Given the description of an element on the screen output the (x, y) to click on. 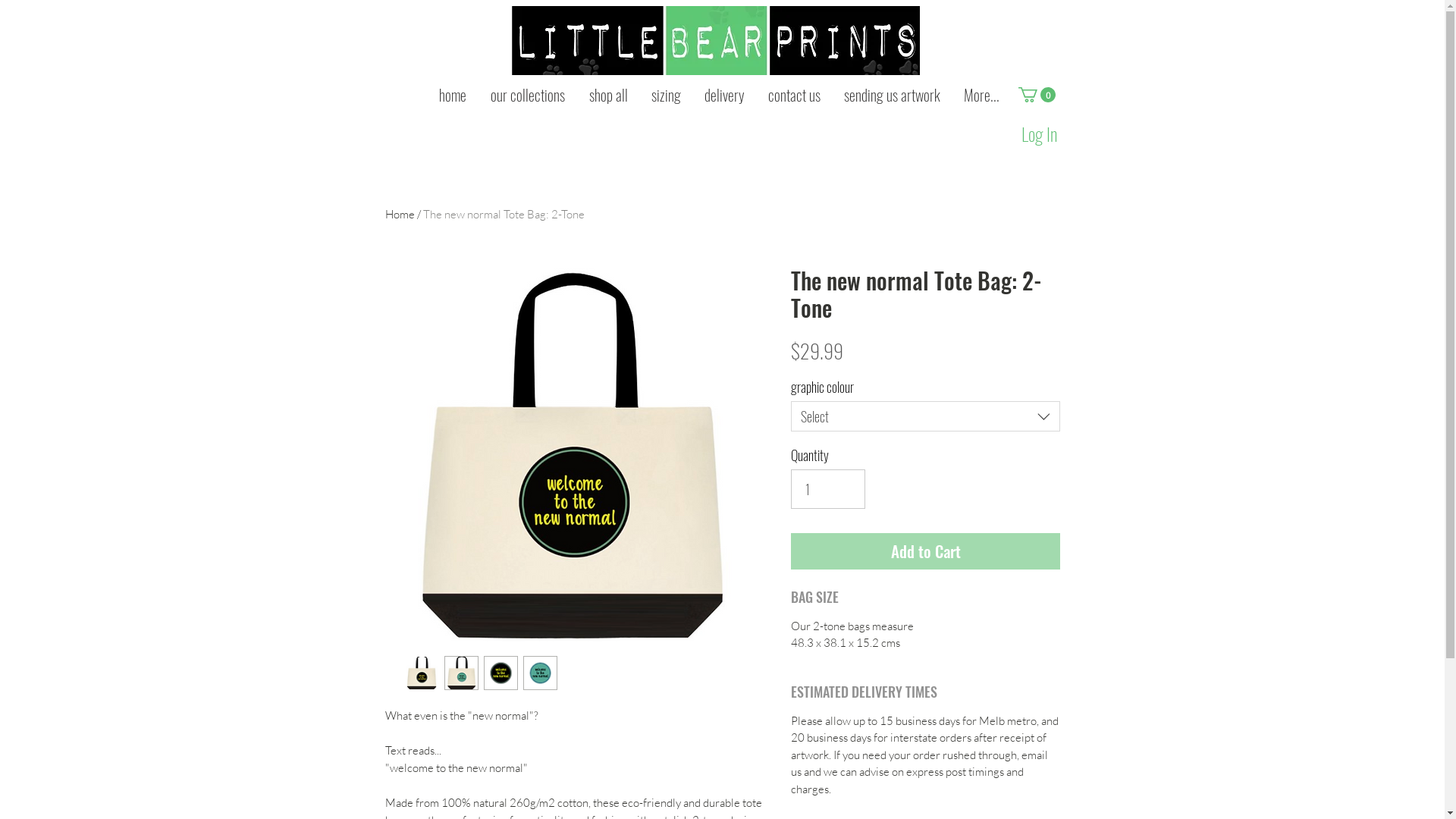
Add to Cart Element type: text (925, 551)
our collections Element type: text (526, 94)
Log In Element type: text (1038, 133)
sending us artwork Element type: text (892, 94)
sizing Element type: text (666, 94)
delivery Element type: text (724, 94)
contact us Element type: text (794, 94)
The new normal Tote Bag: 2-Tone Element type: text (503, 214)
0 Element type: text (1035, 94)
Home Element type: text (399, 214)
shop all Element type: text (607, 94)
home Element type: text (451, 94)
Select Element type: text (925, 416)
